Given the description of an element on the screen output the (x, y) to click on. 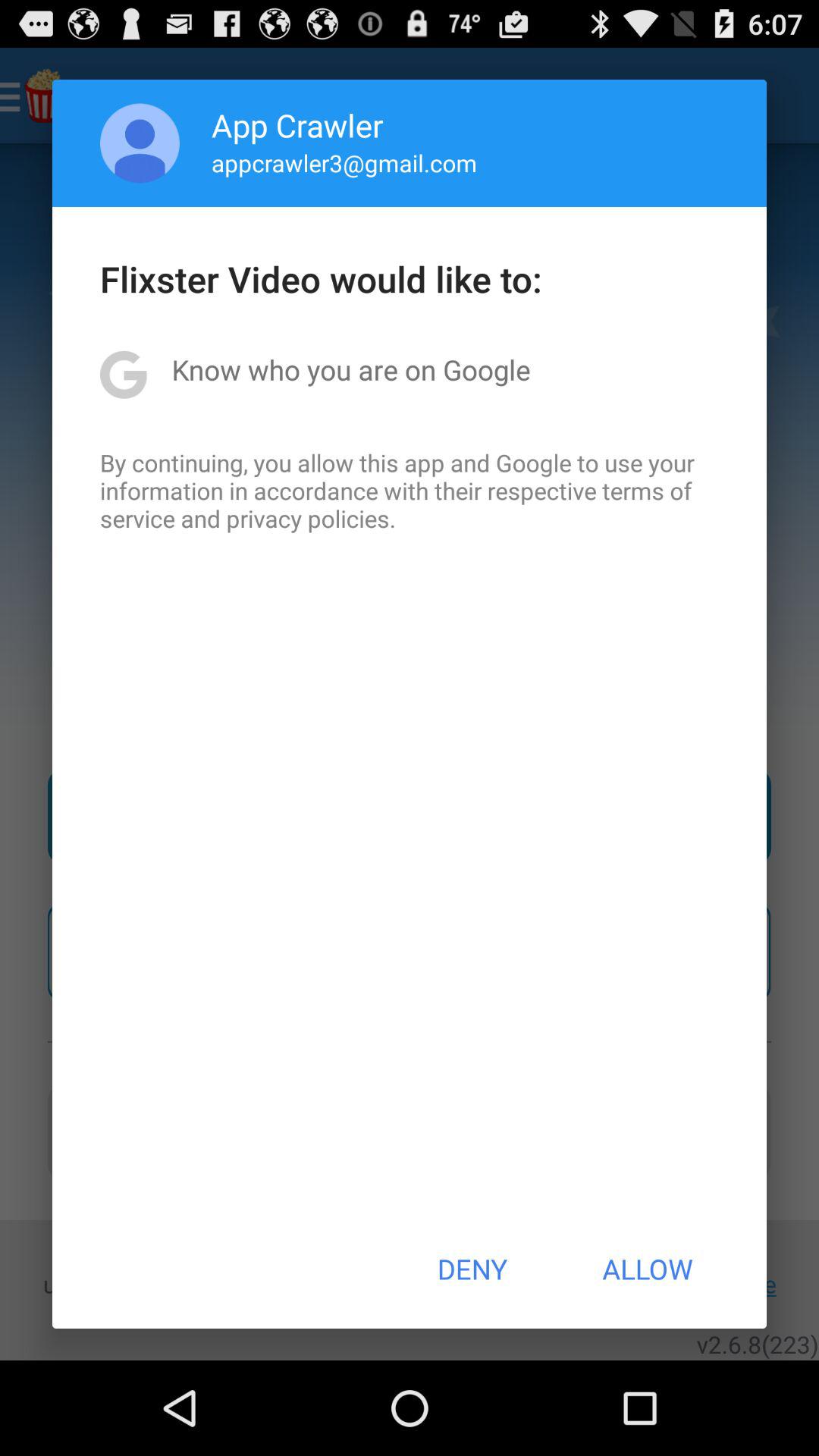
open icon next to the app crawler item (139, 143)
